Given the description of an element on the screen output the (x, y) to click on. 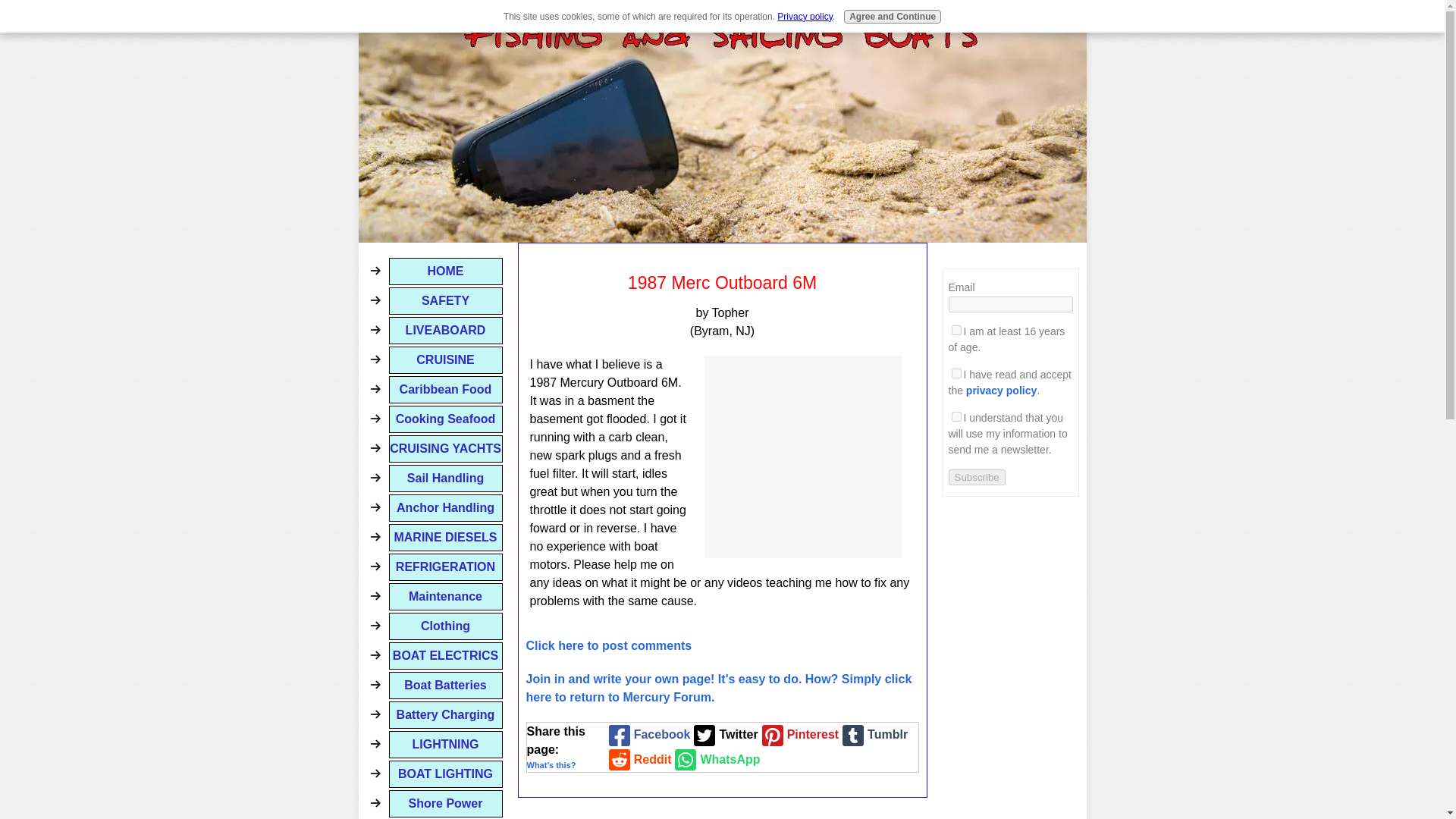
Caribbean Food (445, 389)
LIVEABOARD (445, 329)
Maintenance (445, 596)
CRUISINE (445, 359)
on (955, 416)
Pinterest (798, 734)
Reddit (638, 760)
Tumblr (872, 734)
LIGHTNING (445, 744)
Shore Power (445, 803)
